Given the description of an element on the screen output the (x, y) to click on. 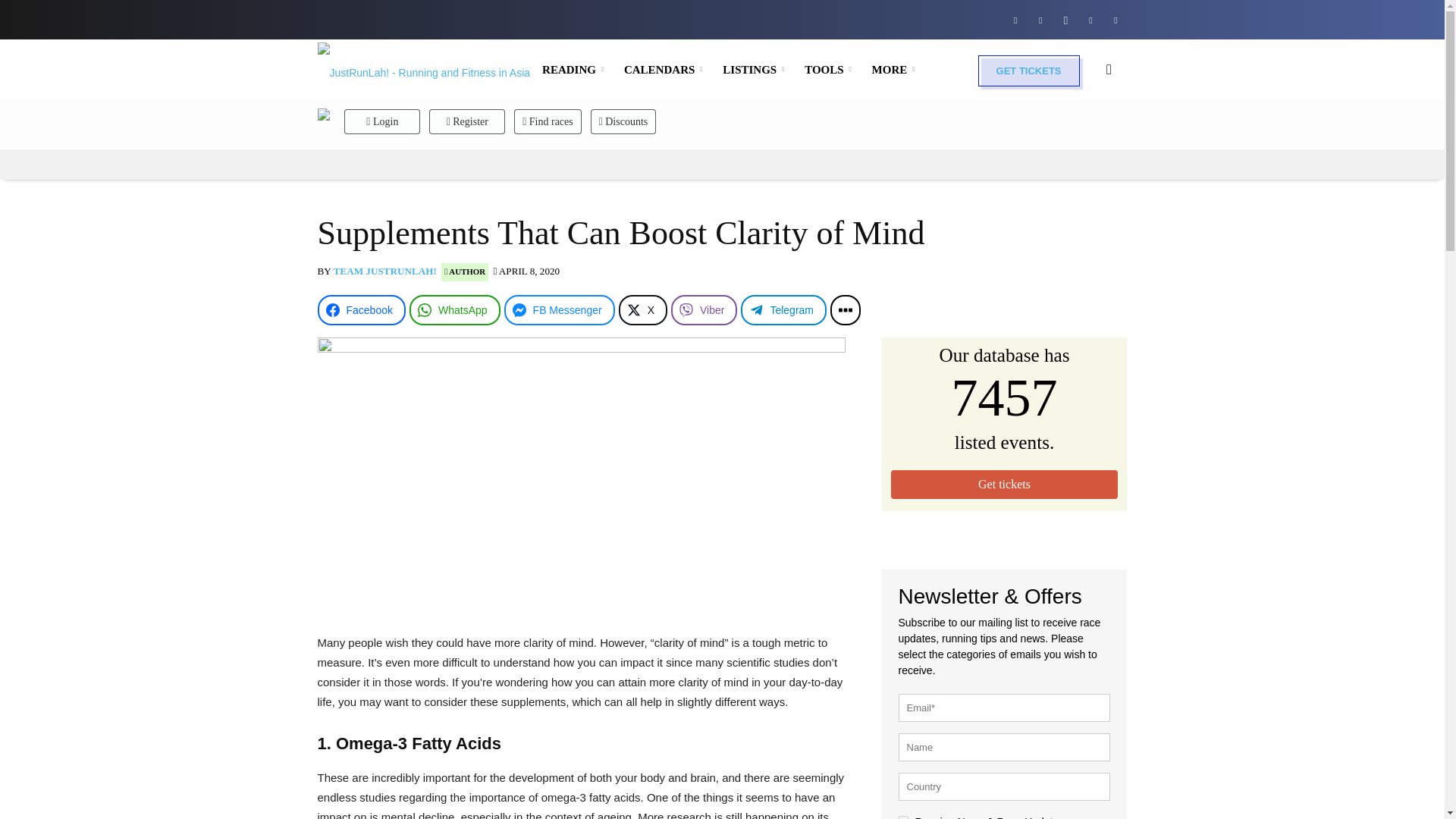
Flickr (1040, 19)
Written by a JustRunLah! author. Click for more info (464, 270)
Youtube (1114, 19)
Share on WhatsApp (454, 309)
Share on Facebook (360, 309)
Twitter (1090, 19)
Facebook (1015, 19)
Share on FB Messenger (558, 309)
Instagram (1065, 19)
Share on X (642, 309)
